Given the description of an element on the screen output the (x, y) to click on. 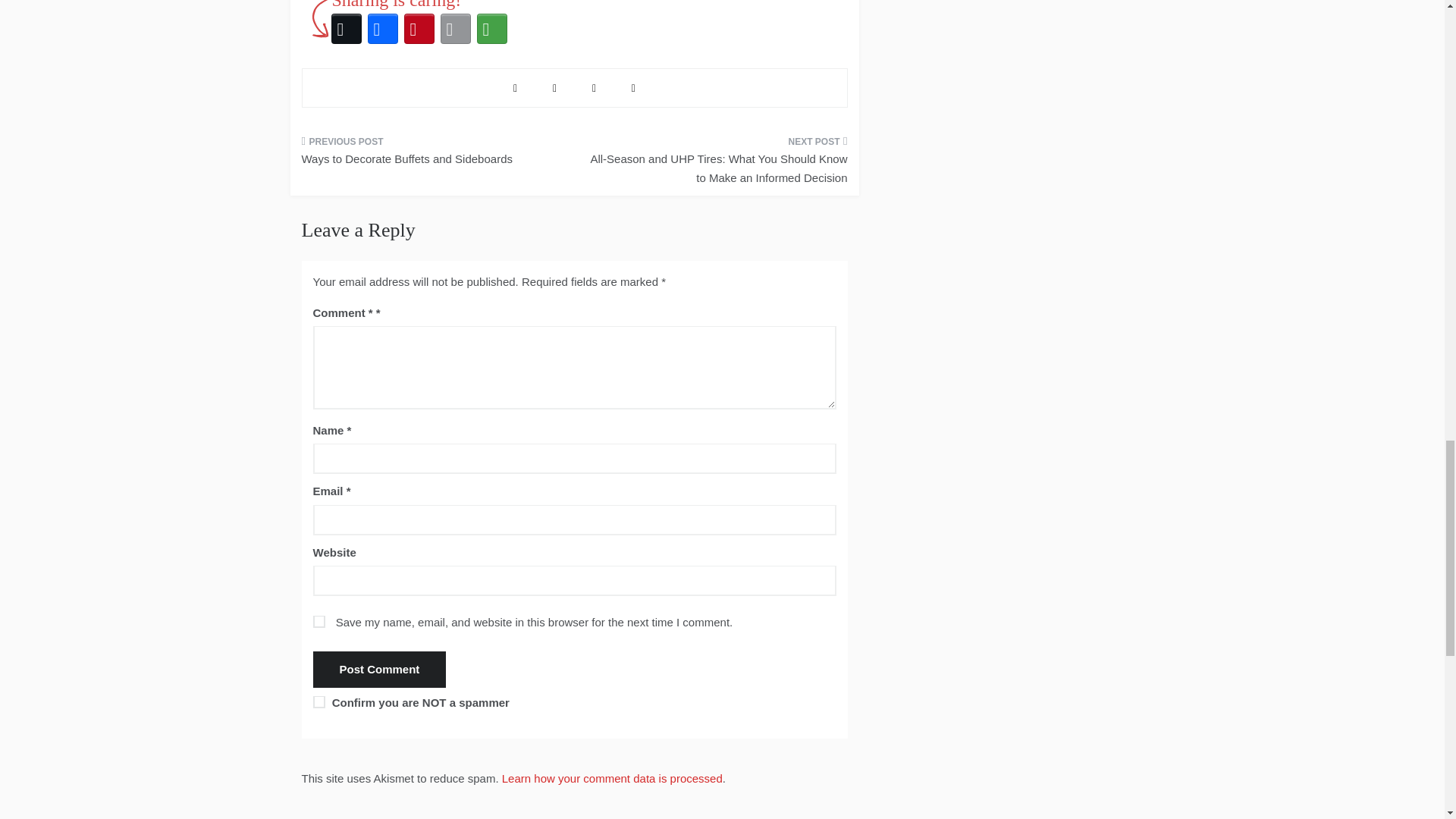
Post Comment (379, 669)
More Options (491, 28)
Pinterest (418, 28)
yes (318, 621)
Facebook (382, 28)
Email This (454, 28)
on (318, 702)
